Given the description of an element on the screen output the (x, y) to click on. 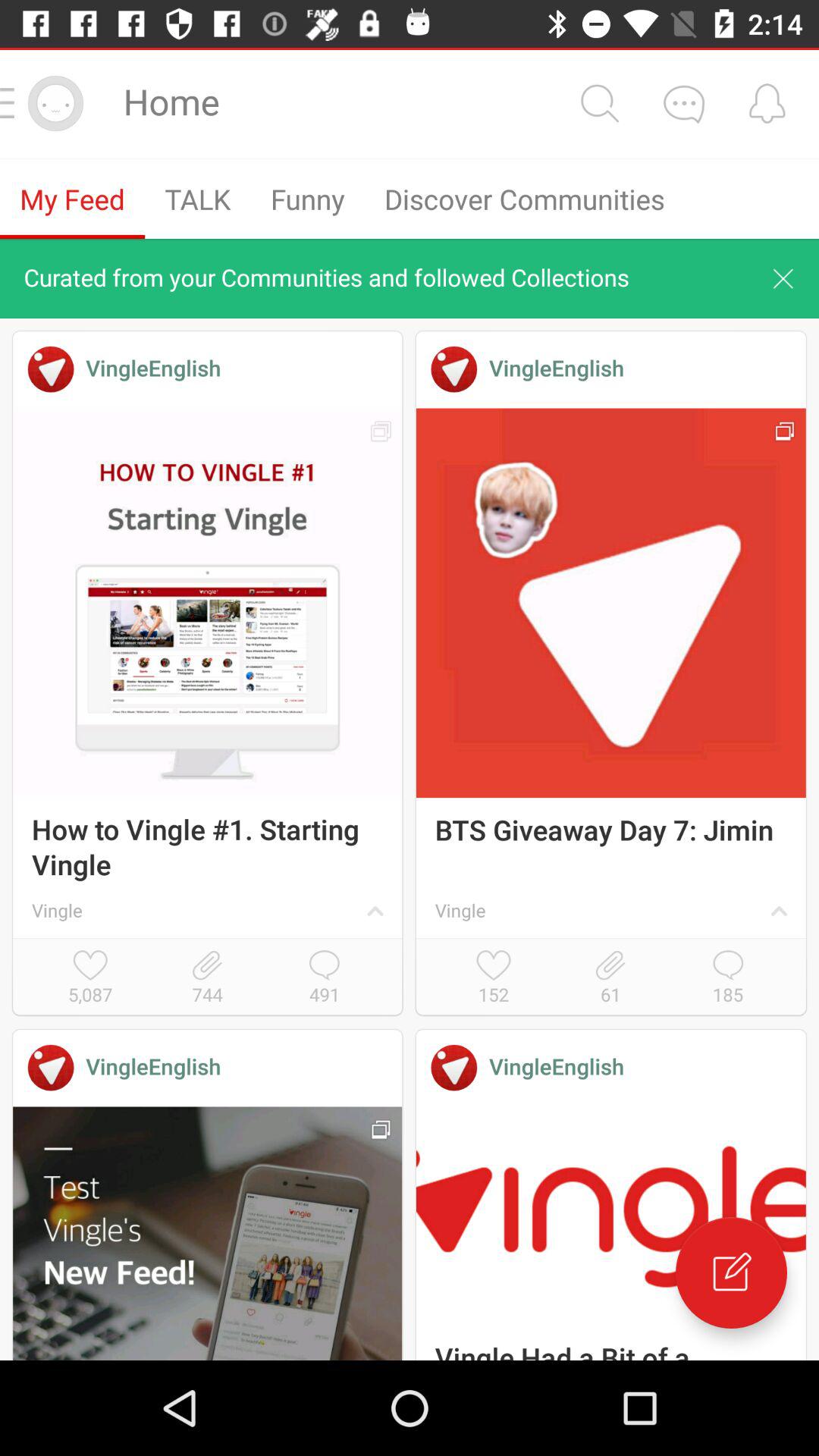
open 5,087 (90, 978)
